Given the description of an element on the screen output the (x, y) to click on. 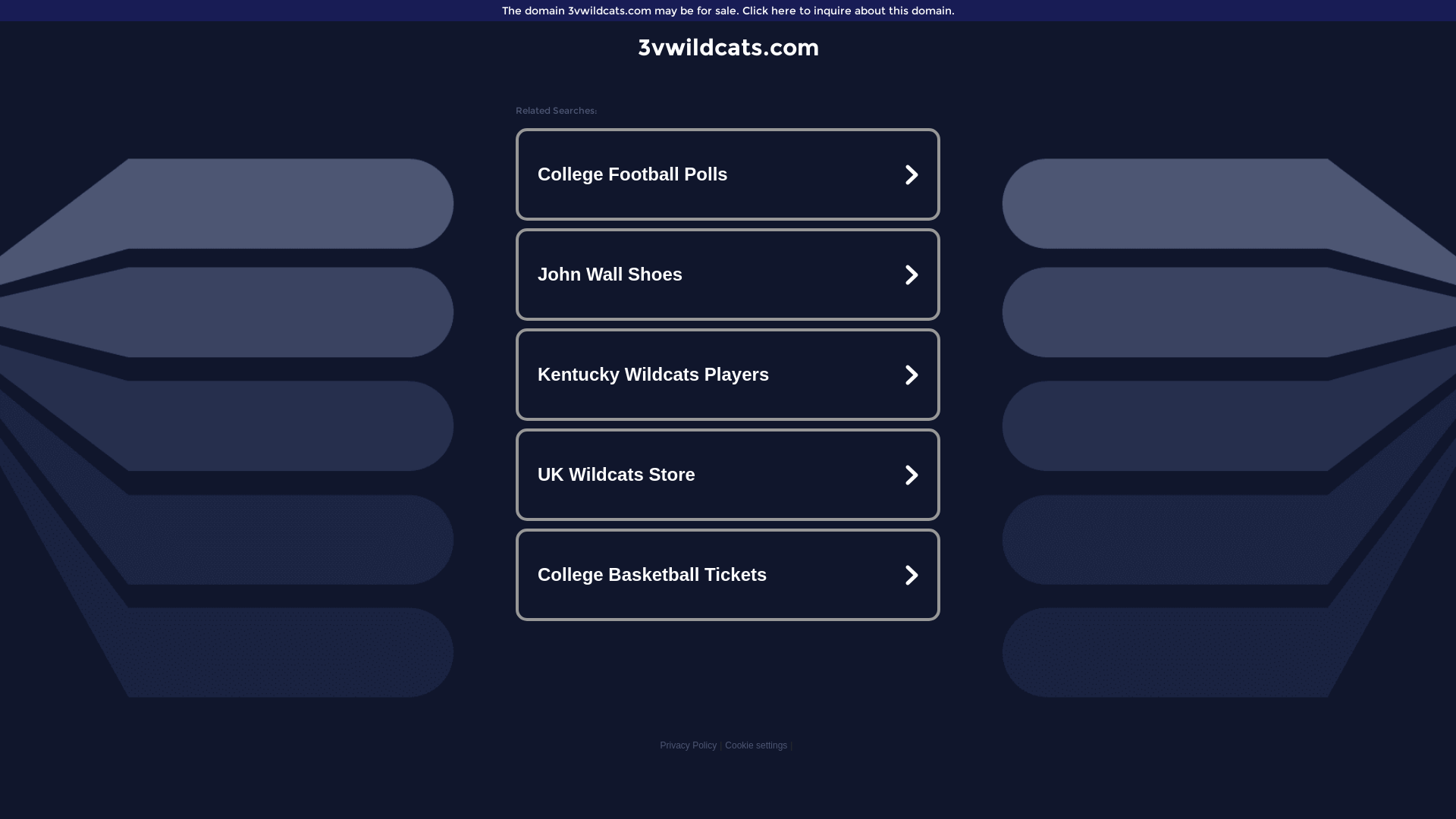
John Wall Shoes Element type: text (727, 274)
3vwildcats.com Element type: text (727, 47)
College Basketball Tickets Element type: text (727, 574)
Kentucky Wildcats Players Element type: text (727, 374)
UK Wildcats Store Element type: text (727, 474)
College Football Polls Element type: text (727, 174)
Cookie settings Element type: text (755, 745)
Privacy Policy Element type: text (687, 745)
